Given the description of an element on the screen output the (x, y) to click on. 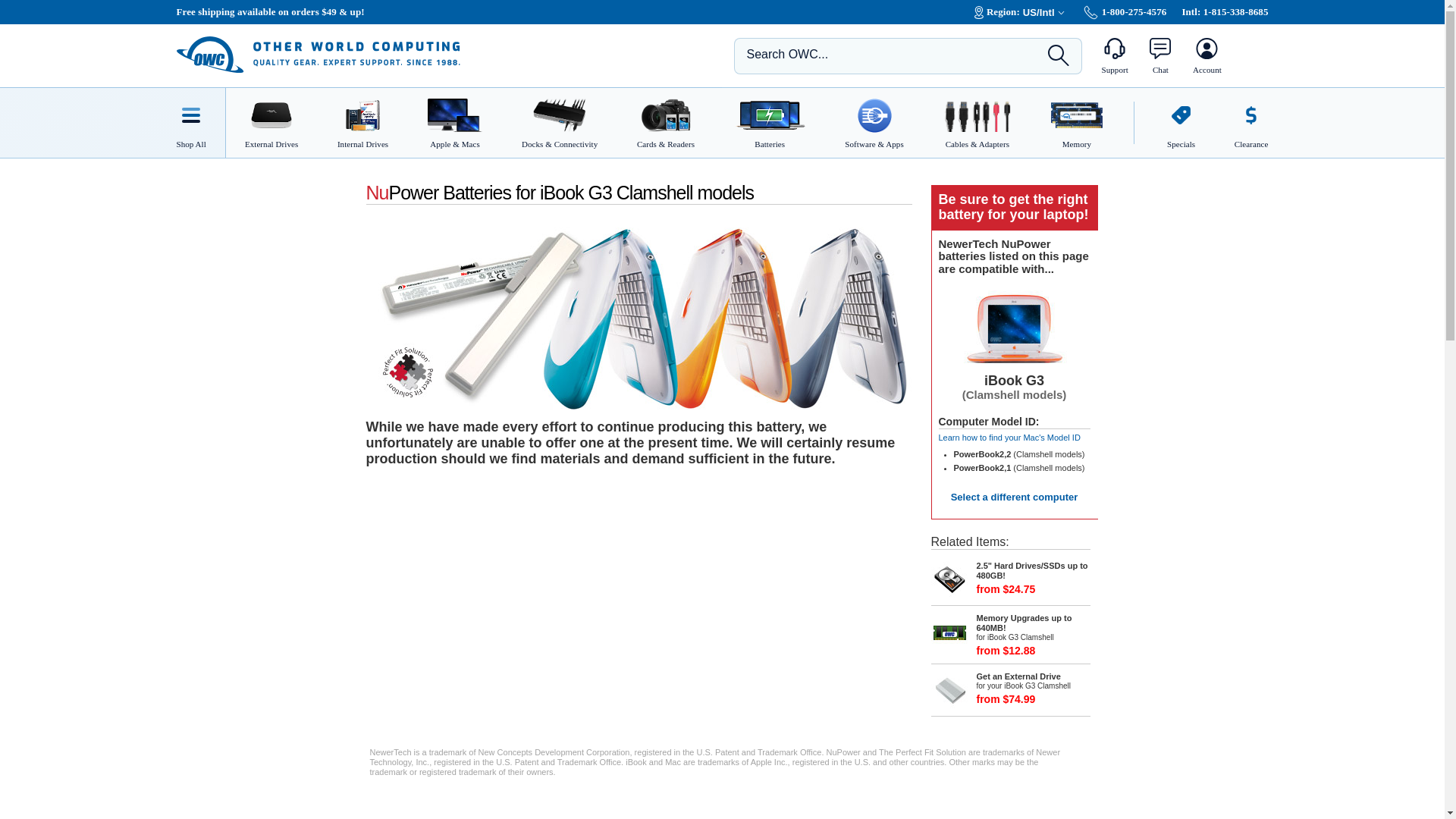
Intl: 1-815-338-8685 (1224, 11)
External Drives (265, 122)
Search (1059, 55)
1-800-275-4576 (1125, 11)
